Given the description of an element on the screen output the (x, y) to click on. 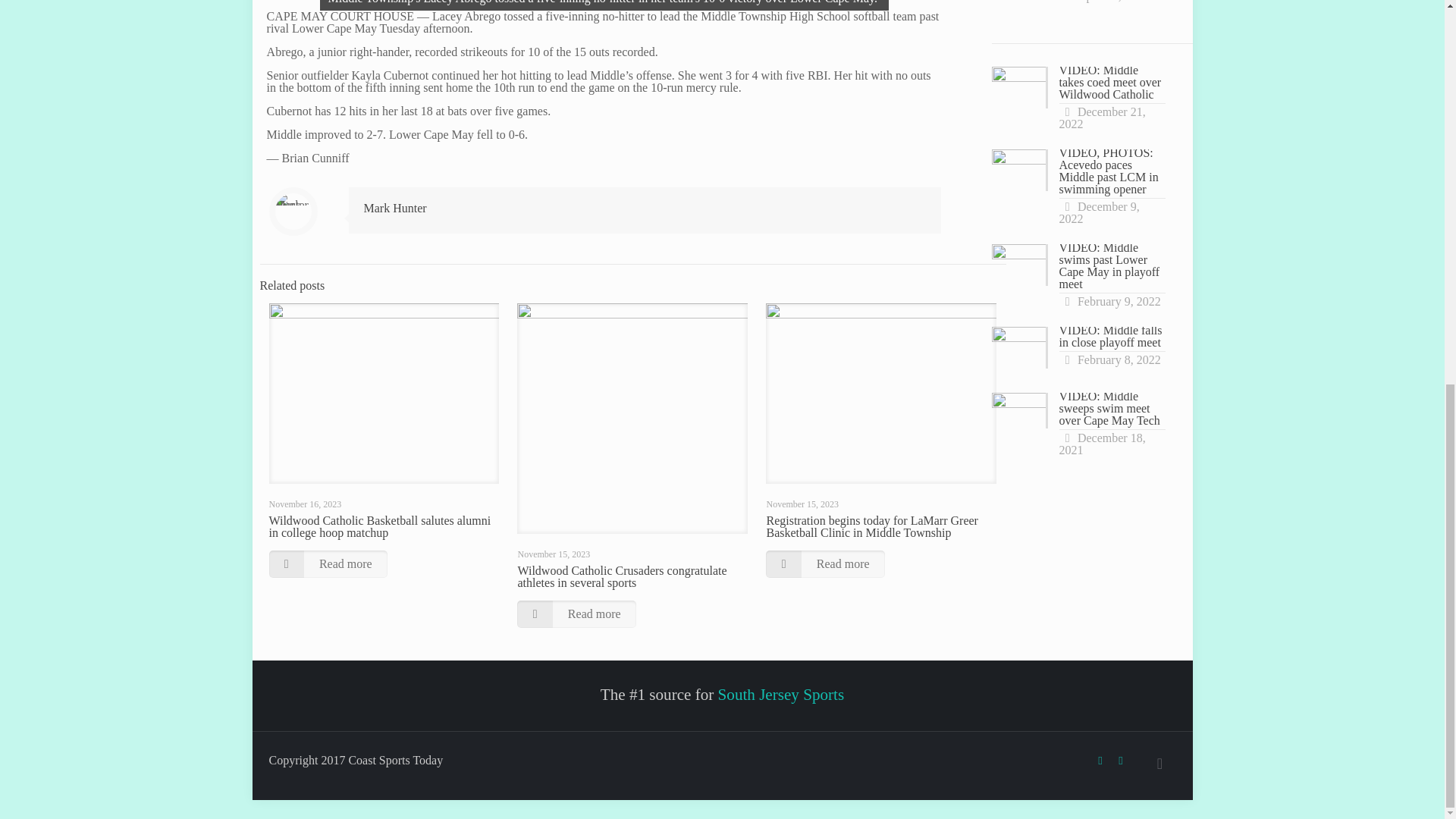
MT-LCM 13 (604, 5)
Facebook (1100, 760)
Twitter (1121, 760)
